Given the description of an element on the screen output the (x, y) to click on. 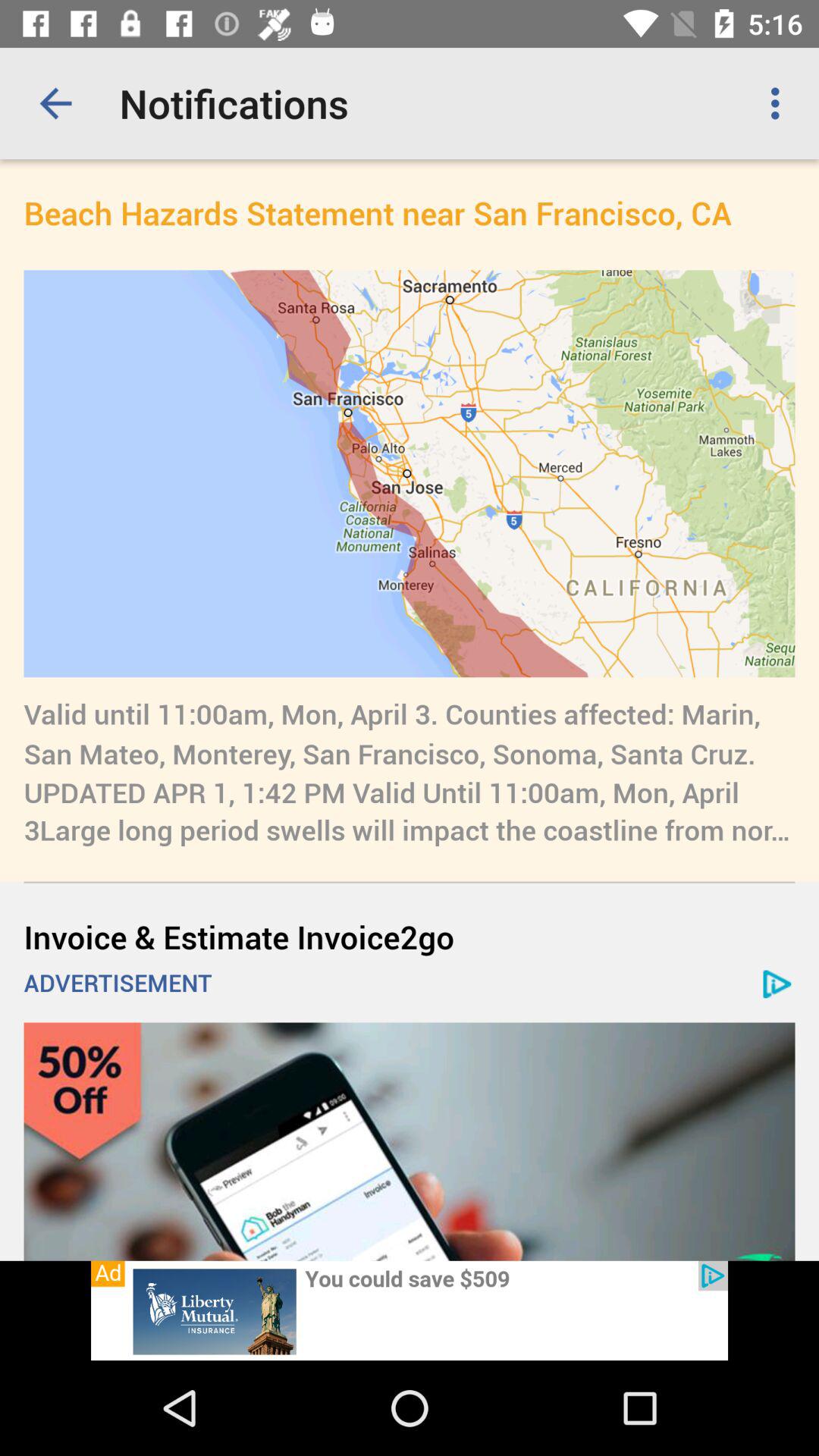
show advertisement (409, 1310)
